Given the description of an element on the screen output the (x, y) to click on. 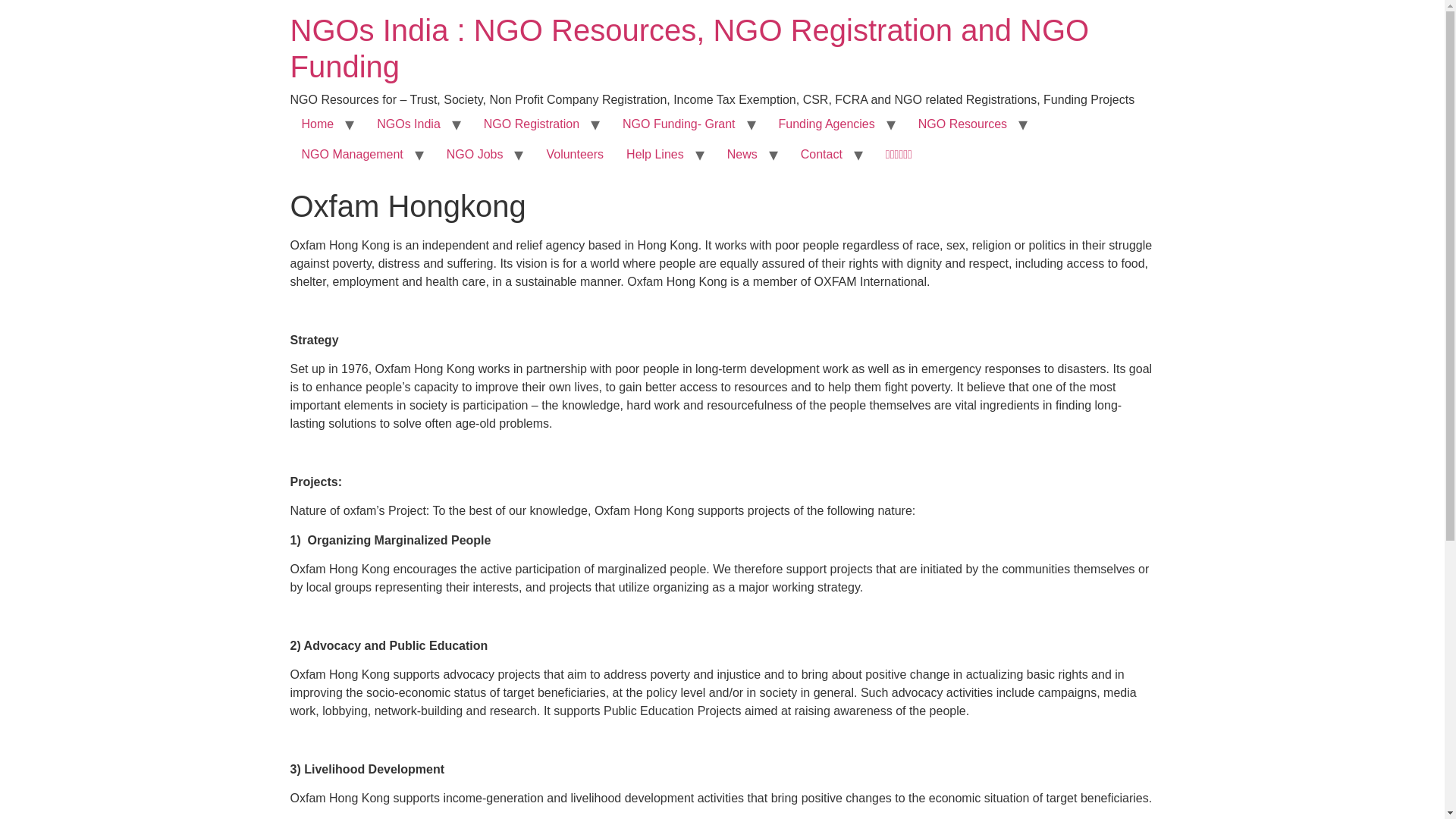
NGOs India (408, 123)
Home (689, 48)
Home (317, 123)
NGOs India : NGO Resources, NGO Registration and NGO Funding (689, 48)
NGOs of India (408, 123)
Home (317, 123)
